Given the description of an element on the screen output the (x, y) to click on. 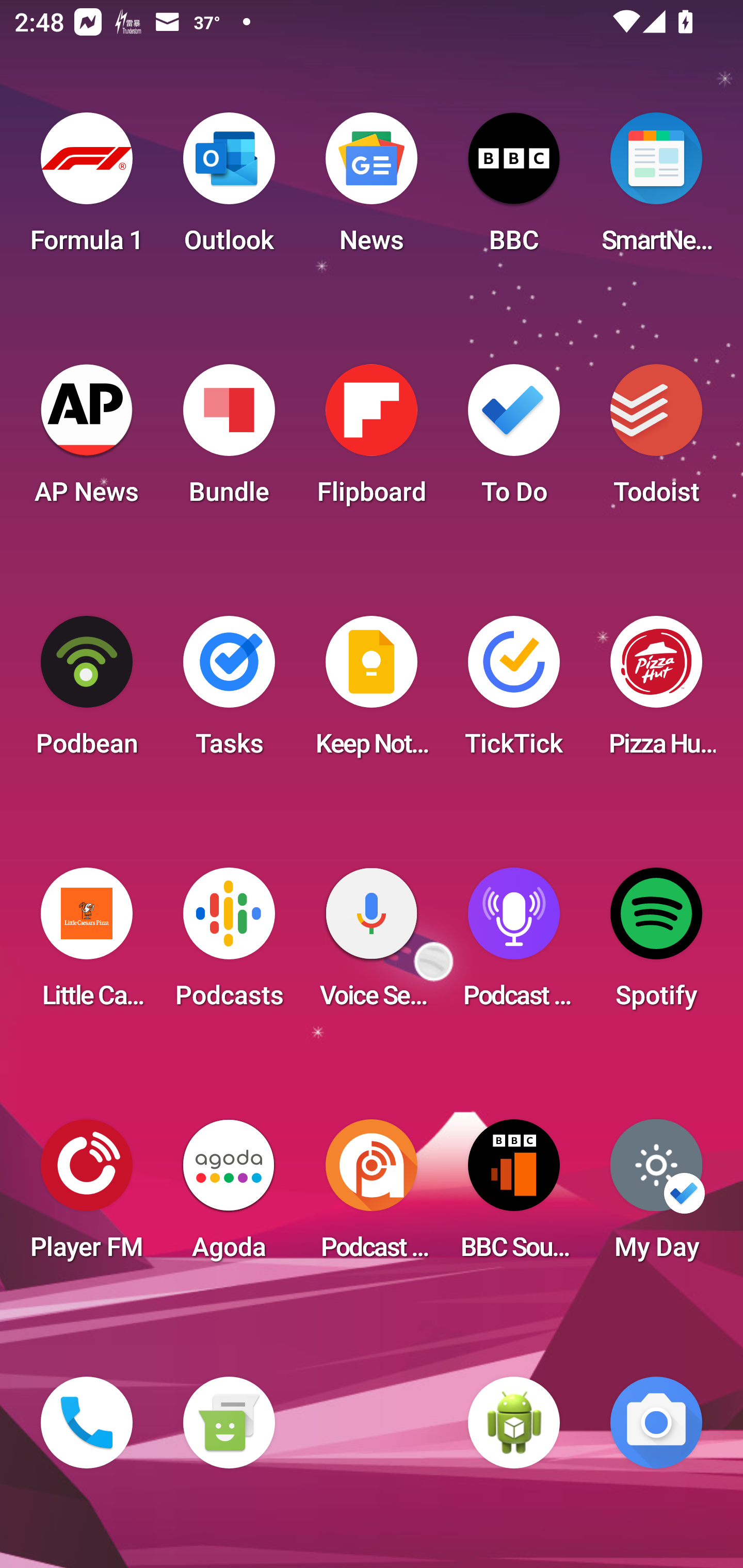
Formula 1 (86, 188)
Outlook (228, 188)
News (371, 188)
BBC (513, 188)
SmartNews (656, 188)
AP News (86, 440)
Bundle (228, 440)
Flipboard (371, 440)
To Do (513, 440)
Todoist (656, 440)
Podbean (86, 692)
Tasks (228, 692)
Keep Notes (371, 692)
TickTick (513, 692)
Pizza Hut HK & Macau (656, 692)
Little Caesars Pizza (86, 943)
Podcasts (228, 943)
Voice Search (371, 943)
Podcast Player (513, 943)
Spotify (656, 943)
Player FM (86, 1195)
Agoda (228, 1195)
Podcast Addict (371, 1195)
BBC Sounds (513, 1195)
My Day (656, 1195)
Phone (86, 1422)
Messaging (228, 1422)
WebView Browser Tester (513, 1422)
Camera (656, 1422)
